Given the description of an element on the screen output the (x, y) to click on. 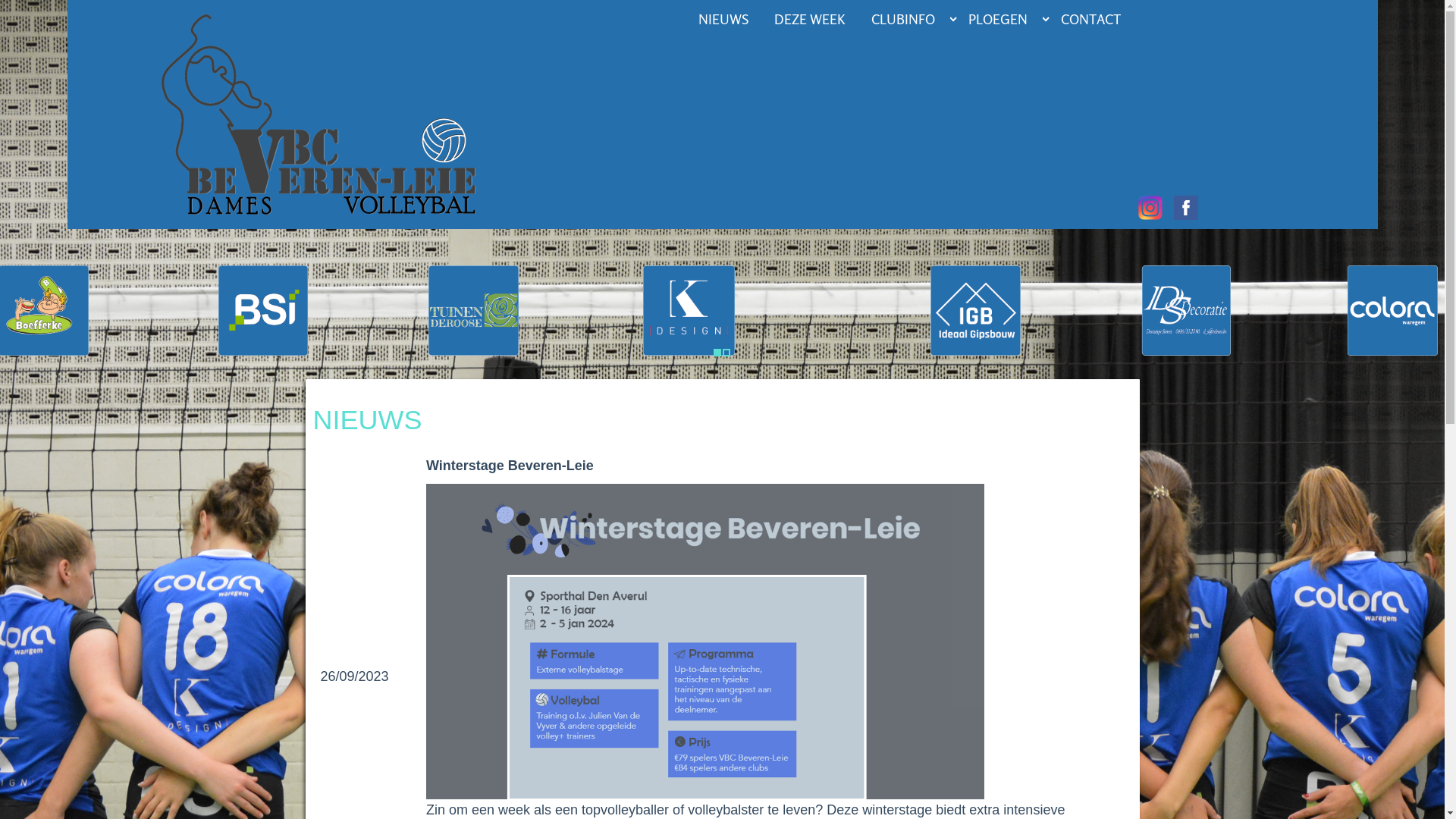
NIEUWS Element type: text (728, 18)
CONTACT Element type: text (1096, 18)
CLUBINFO Element type: text (912, 18)
1 Element type: text (716, 352)
DEZE WEEK Element type: text (814, 18)
PLOEGEN Element type: text (1006, 18)
2 Element type: text (725, 352)
